Given the description of an element on the screen output the (x, y) to click on. 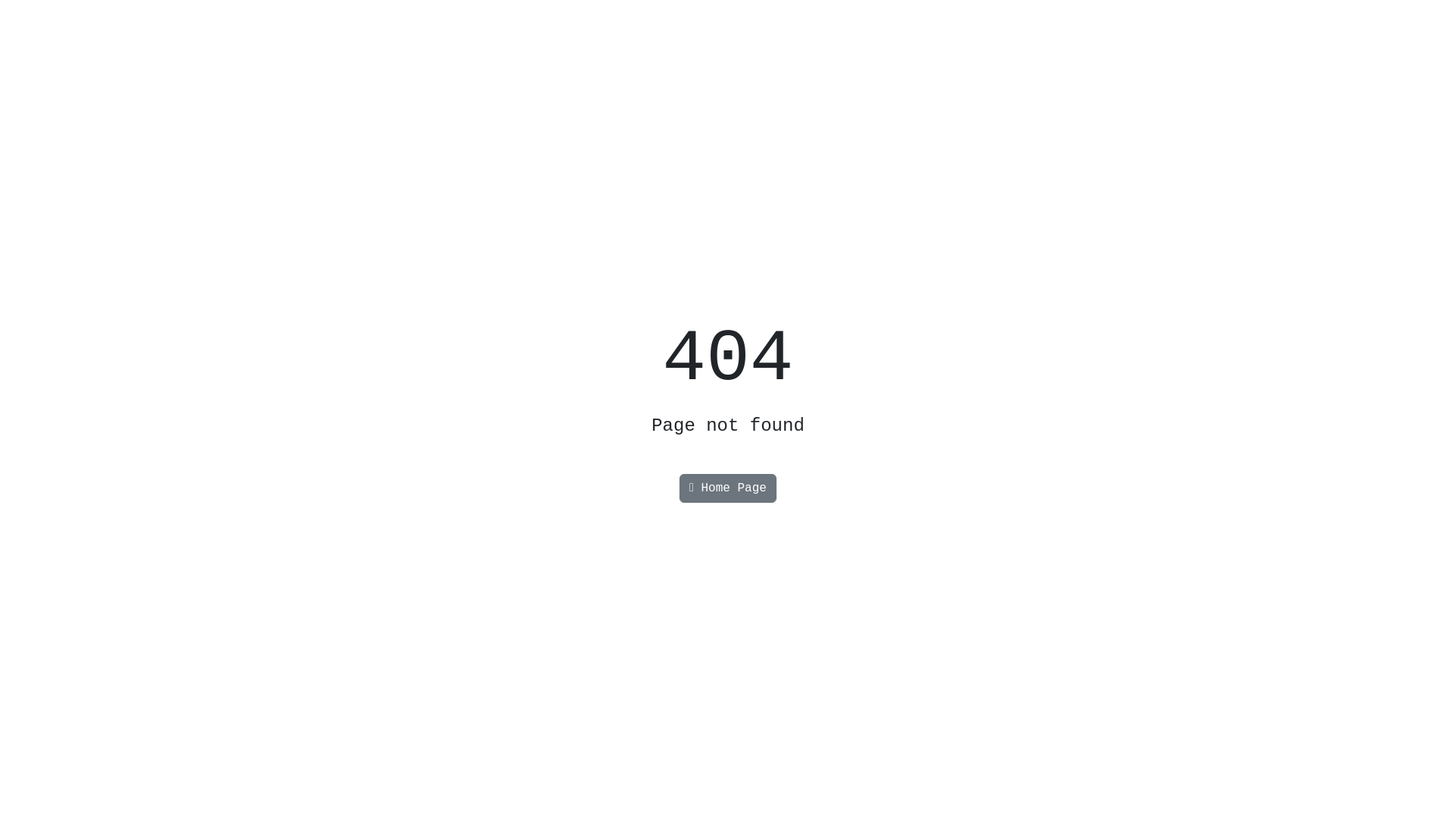
Home Page Element type: text (727, 487)
